Given the description of an element on the screen output the (x, y) to click on. 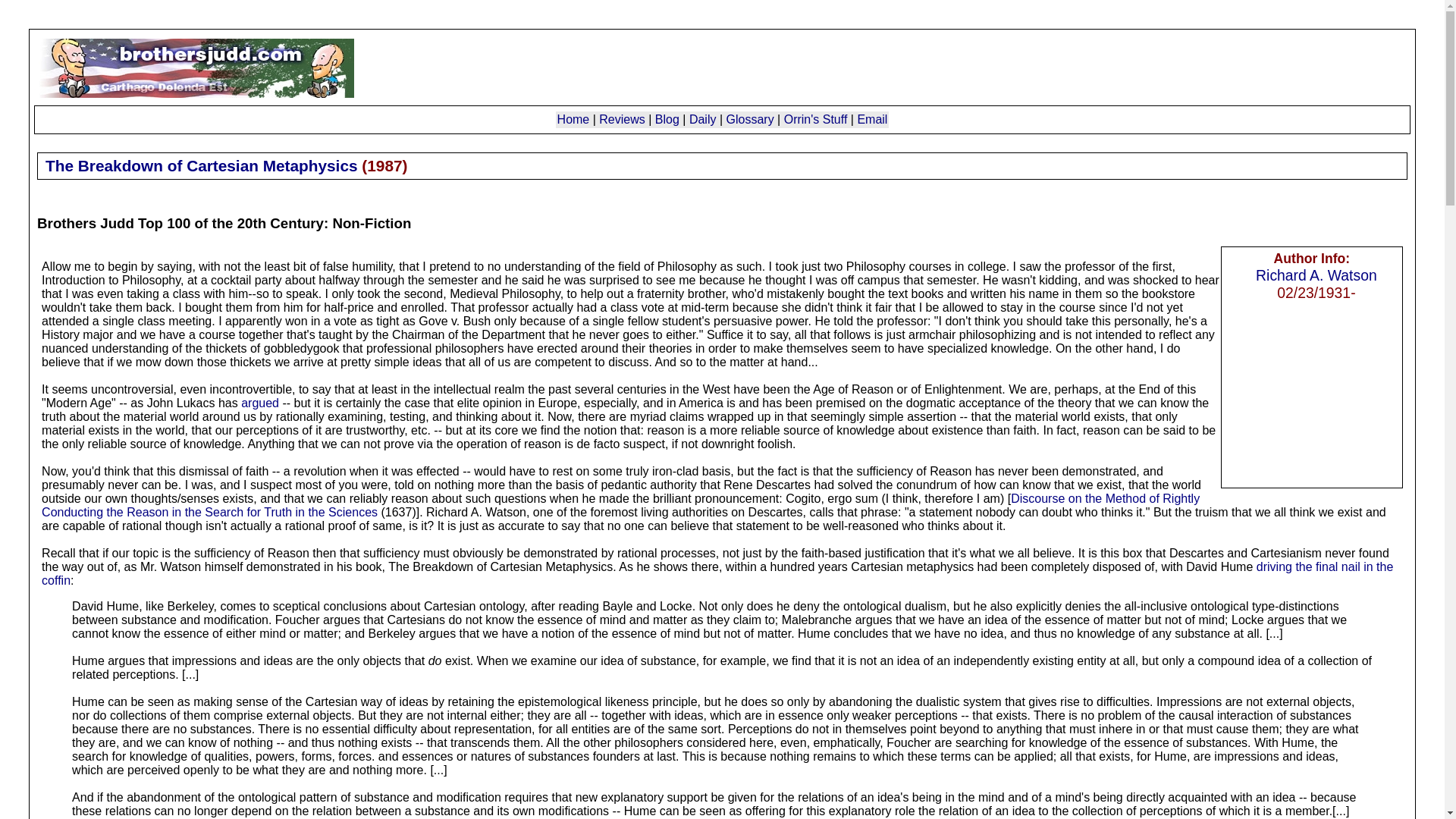
Reviews (621, 119)
Glossary (750, 119)
Email (871, 119)
Orrin's Stuff (815, 119)
Daily (702, 119)
Blog (667, 119)
driving the final nail in the coffin (717, 573)
The Breakdown of Cartesian Metaphysics (200, 165)
argued (260, 402)
